Given the description of an element on the screen output the (x, y) to click on. 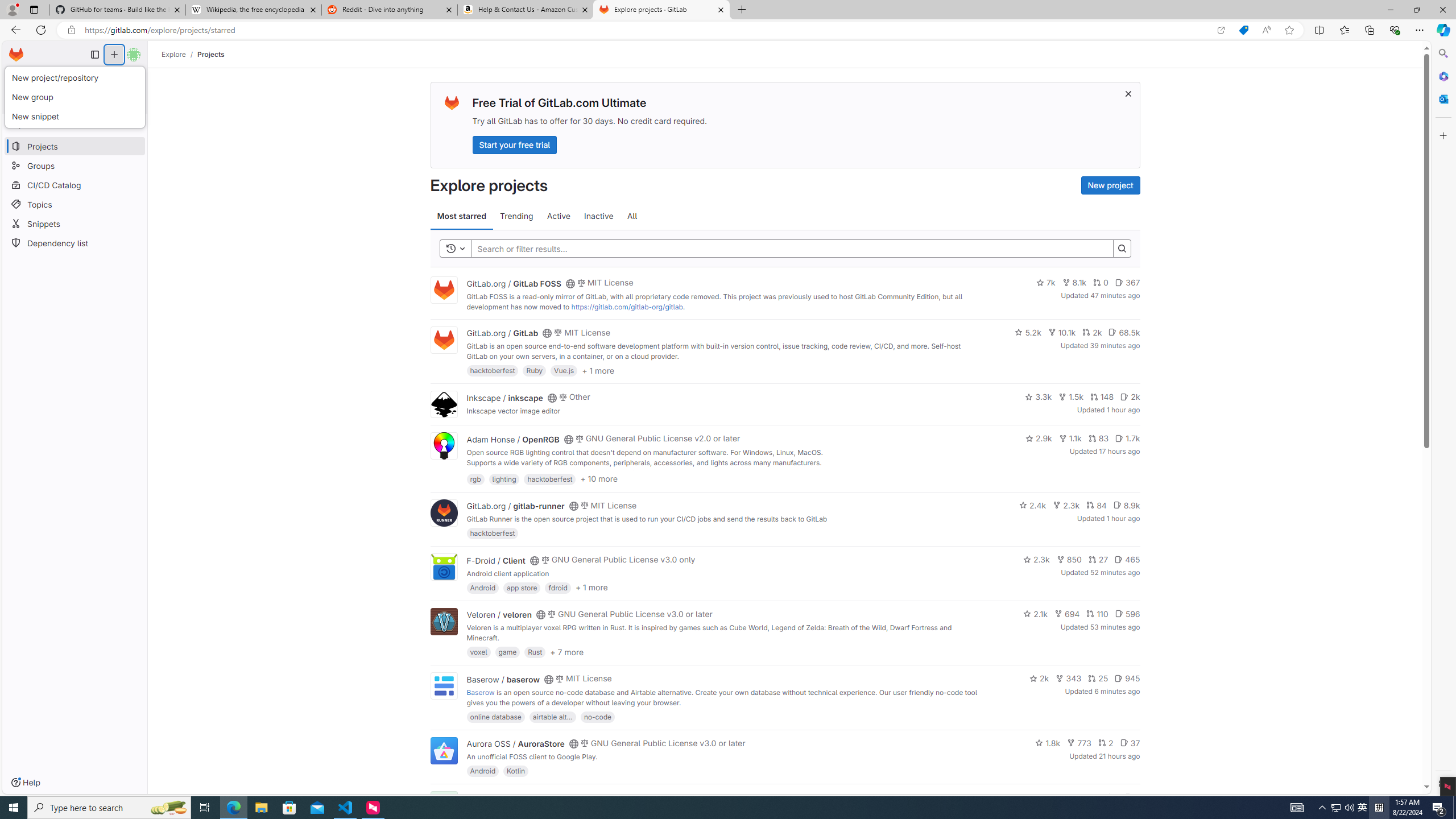
Projects (211, 53)
New snippet (74, 116)
+ 10 more (599, 478)
+ 1 more (591, 587)
0 (1100, 282)
Class: s16 (568, 798)
1.7k (1127, 438)
945 (1127, 678)
Projects (211, 53)
1 (1111, 797)
Dependency list (74, 242)
Kotlin (515, 770)
